Given the description of an element on the screen output the (x, y) to click on. 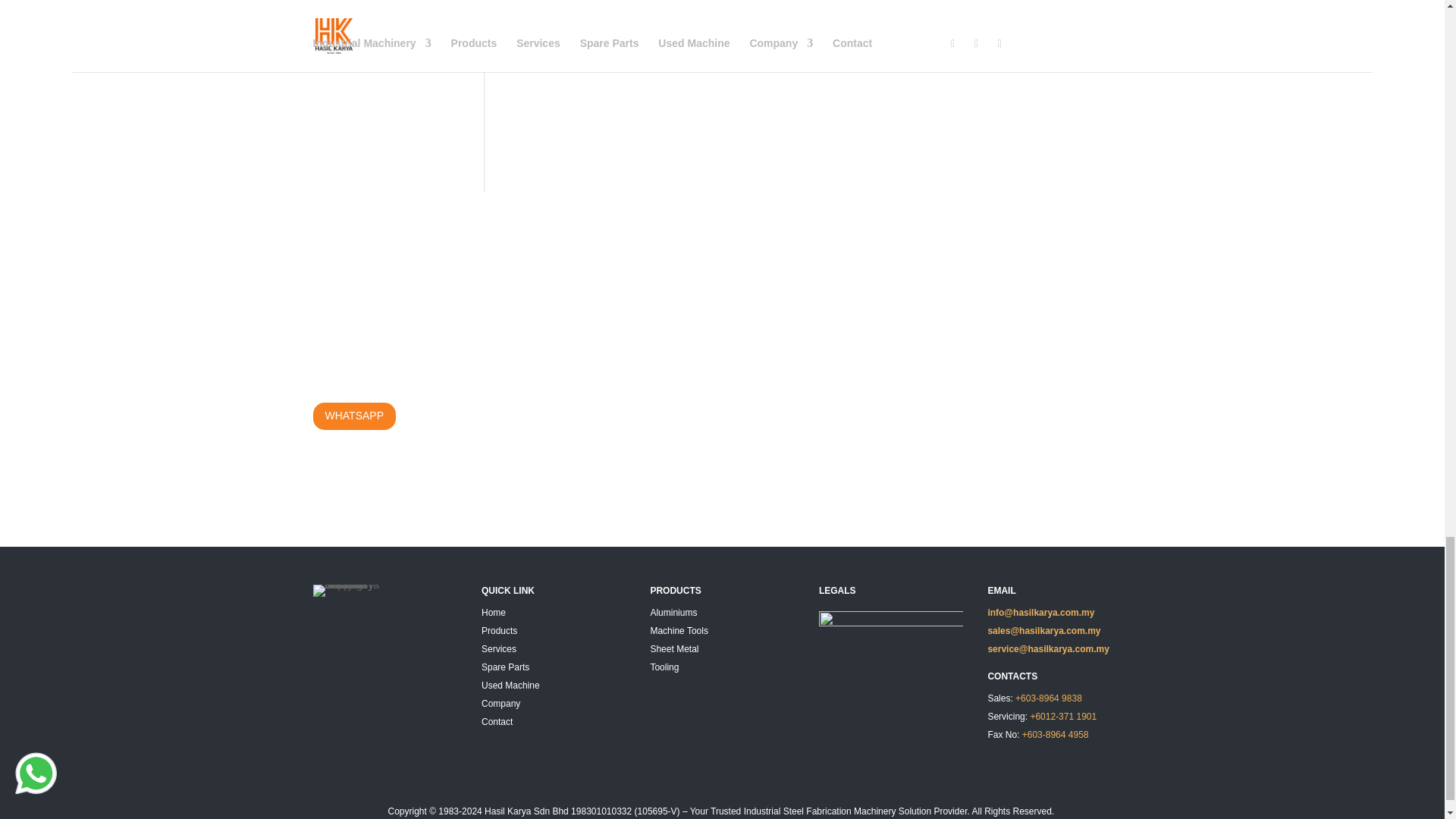
logo-white (350, 590)
lisence (890, 626)
Surface grinding in machine shop (830, 56)
